Given the description of an element on the screen output the (x, y) to click on. 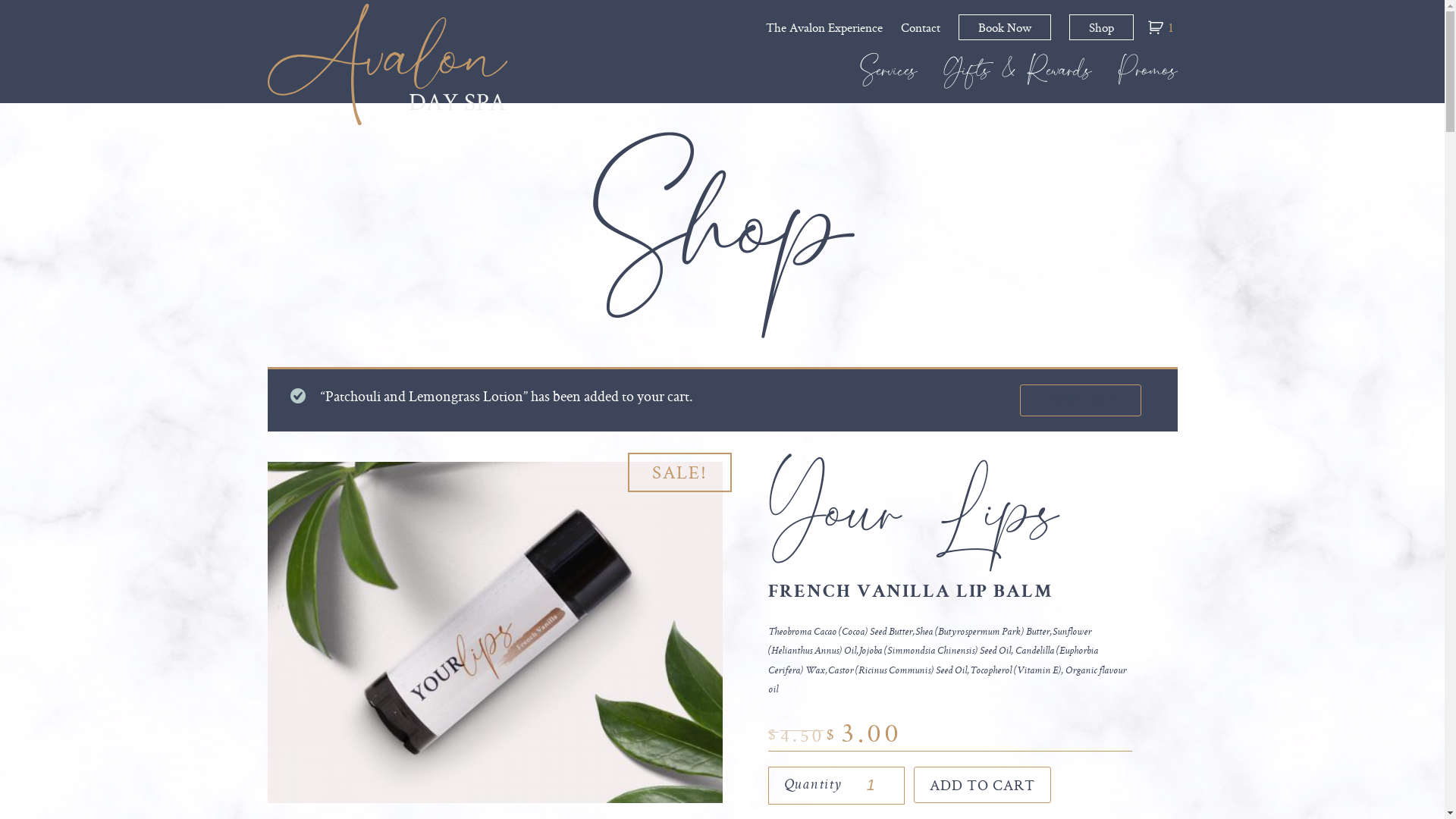
ADD TO CART Element type: text (982, 784)
The Avalon Experience Element type: text (823, 26)
Services Element type: text (888, 78)
Shop Element type: text (1101, 27)
Book Now Element type: text (1004, 27)
Gifts & Rewards Element type: text (1017, 78)
Qty Element type: hover (876, 784)
1 Element type: text (1162, 26)
Promos Element type: text (1147, 78)
Your Lips Element type: text (912, 511)
Contact Element type: text (920, 26)
VIEW CART Element type: text (1079, 400)
